Given the description of an element on the screen output the (x, y) to click on. 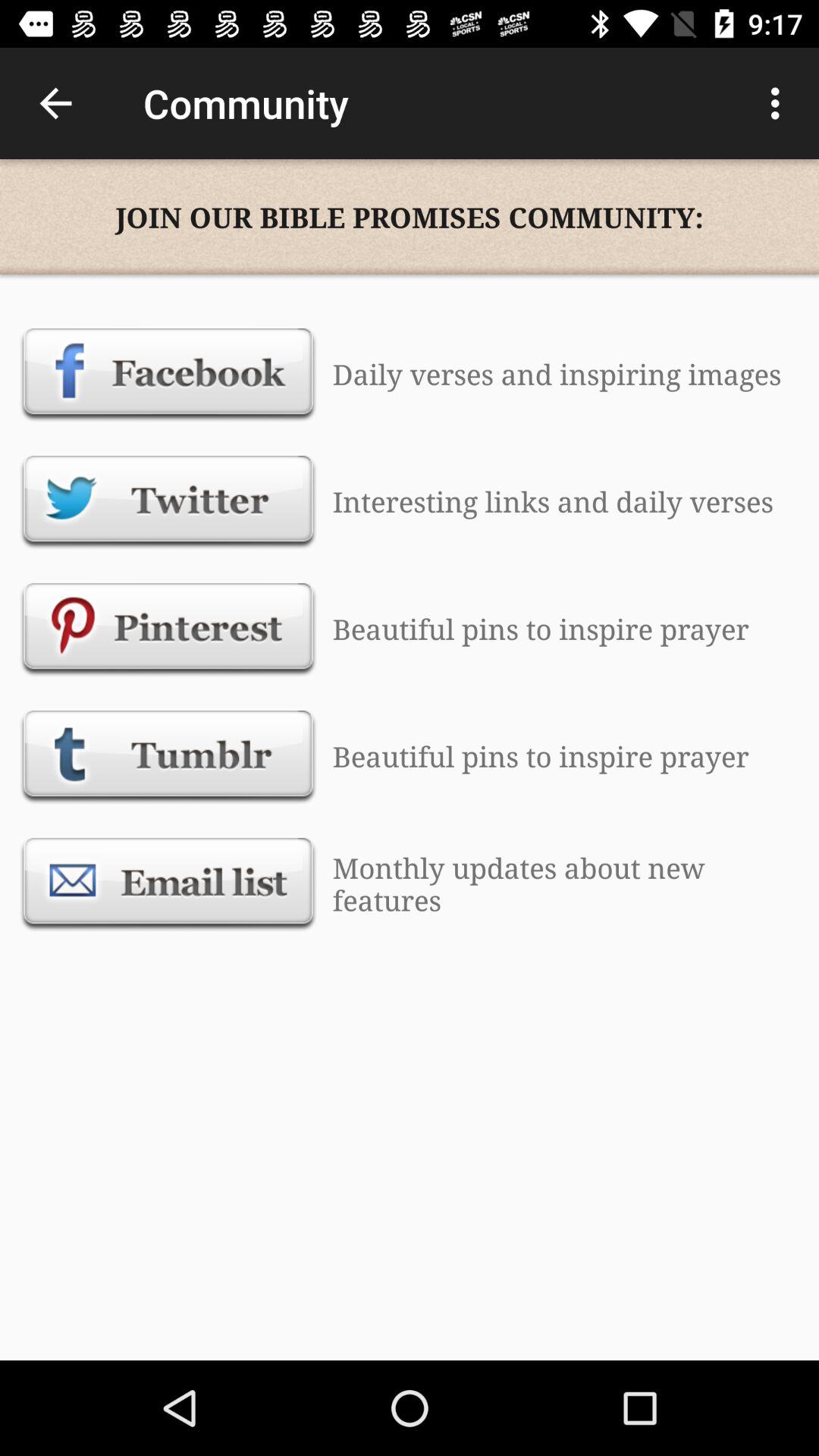
select the icon to the left of monthly updates about icon (167, 883)
